Given the description of an element on the screen output the (x, y) to click on. 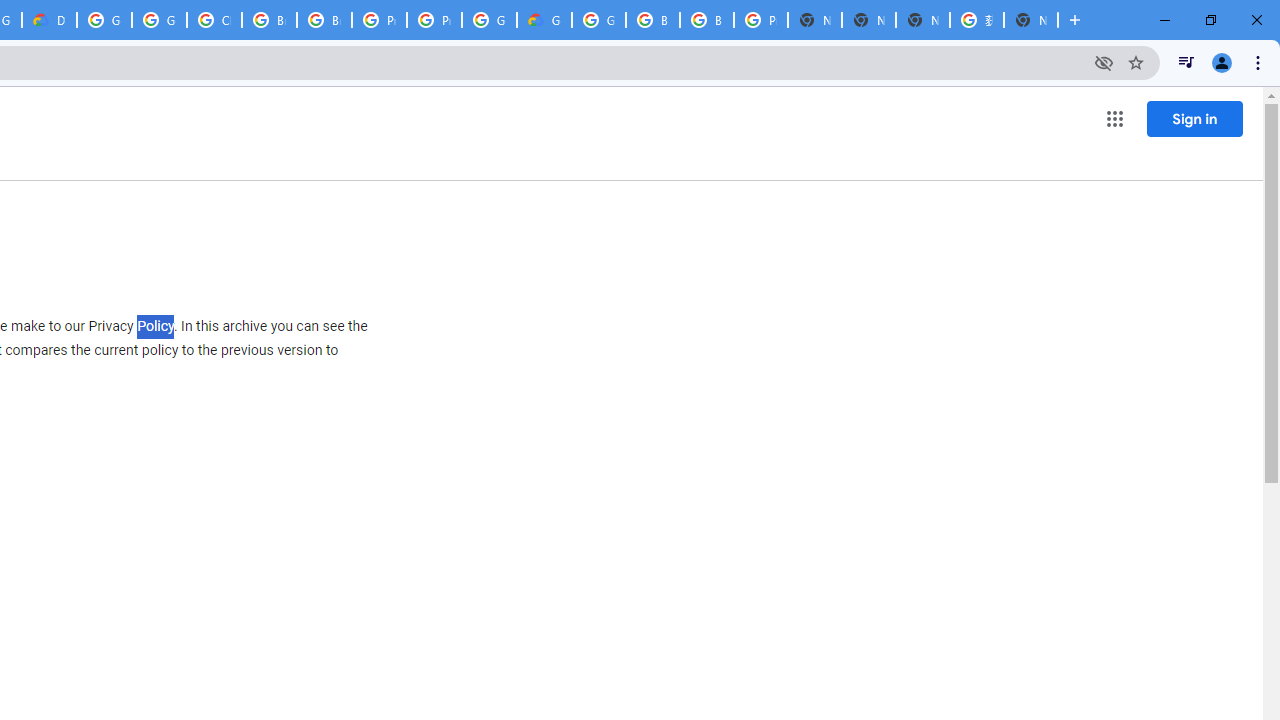
Google Cloud Platform (598, 20)
Google Cloud Platform (489, 20)
New Tab (1030, 20)
Browse Chrome as a guest - Computer - Google Chrome Help (324, 20)
Browse Chrome as a guest - Computer - Google Chrome Help (268, 20)
Google Cloud Estimate Summary (544, 20)
Google Cloud Platform (103, 20)
